Given the description of an element on the screen output the (x, y) to click on. 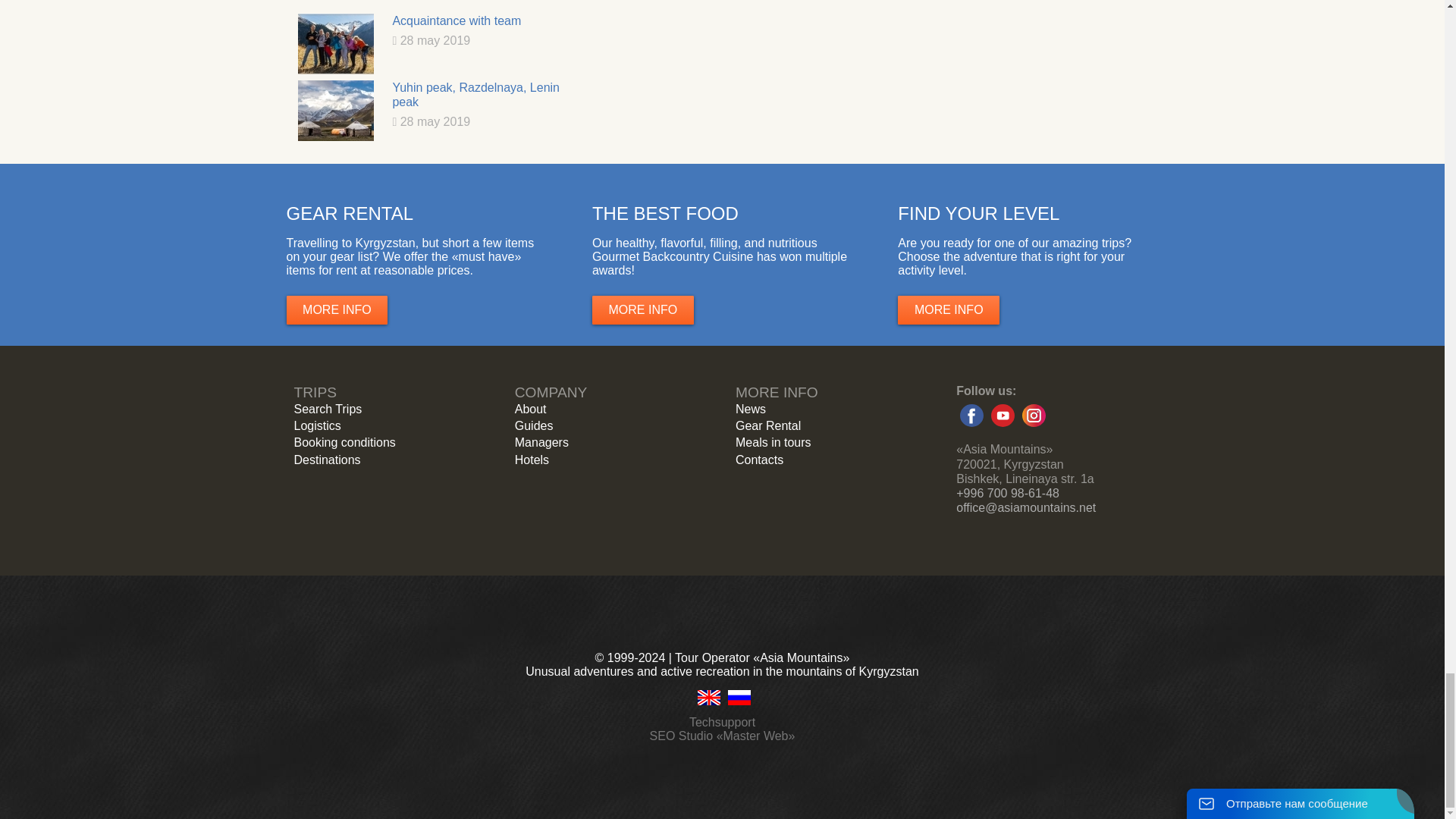
Acquaintance with team (334, 43)
